Given the description of an element on the screen output the (x, y) to click on. 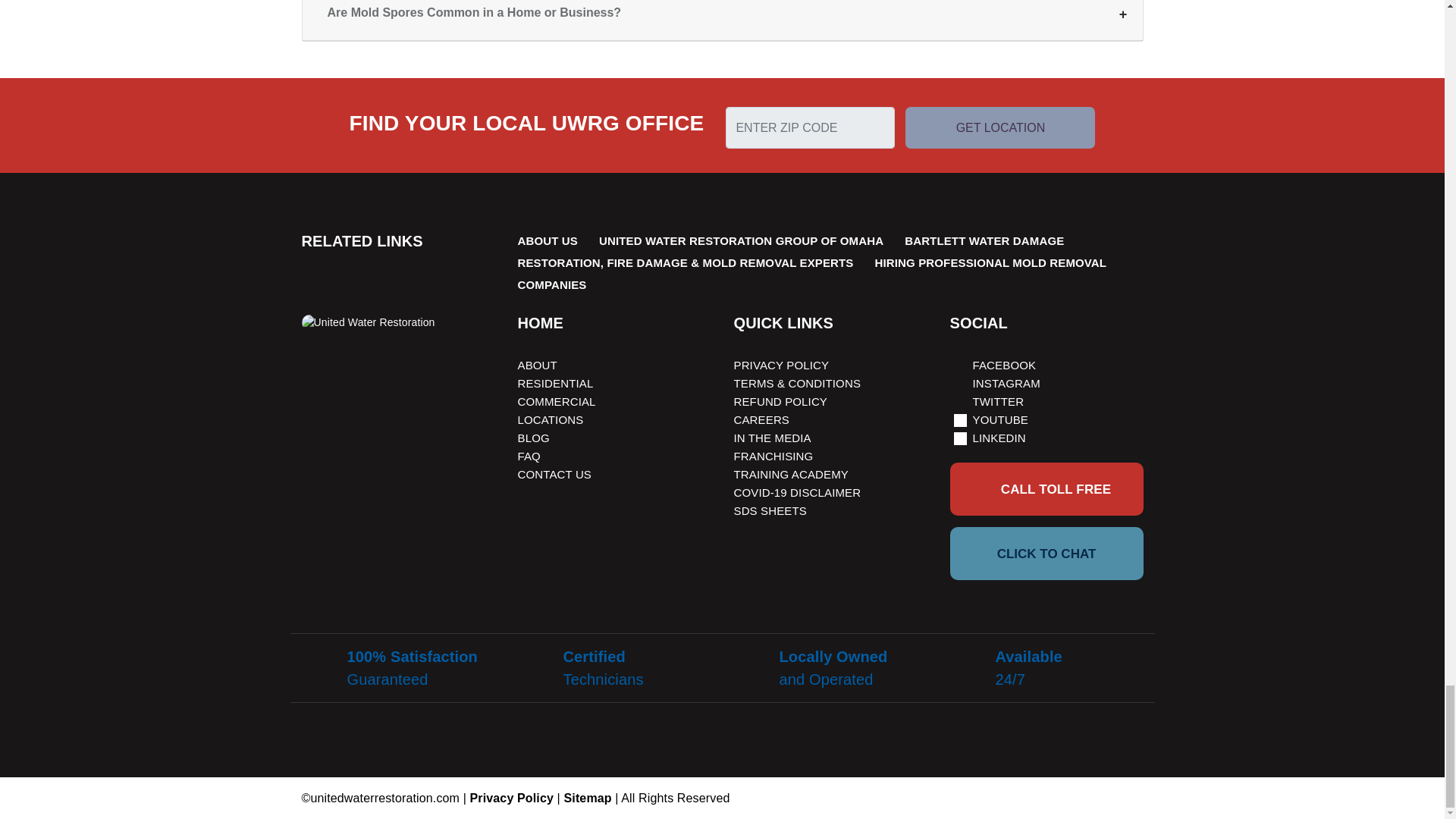
About Us (546, 240)
Blog (532, 437)
About (536, 364)
FAQs (528, 455)
Hiring Professional Mold Removal Companies (810, 273)
Home (539, 322)
Residential (554, 382)
United Water Restoration Group of Omaha (740, 240)
Locations (549, 419)
Commercial (555, 400)
